Given the description of an element on the screen output the (x, y) to click on. 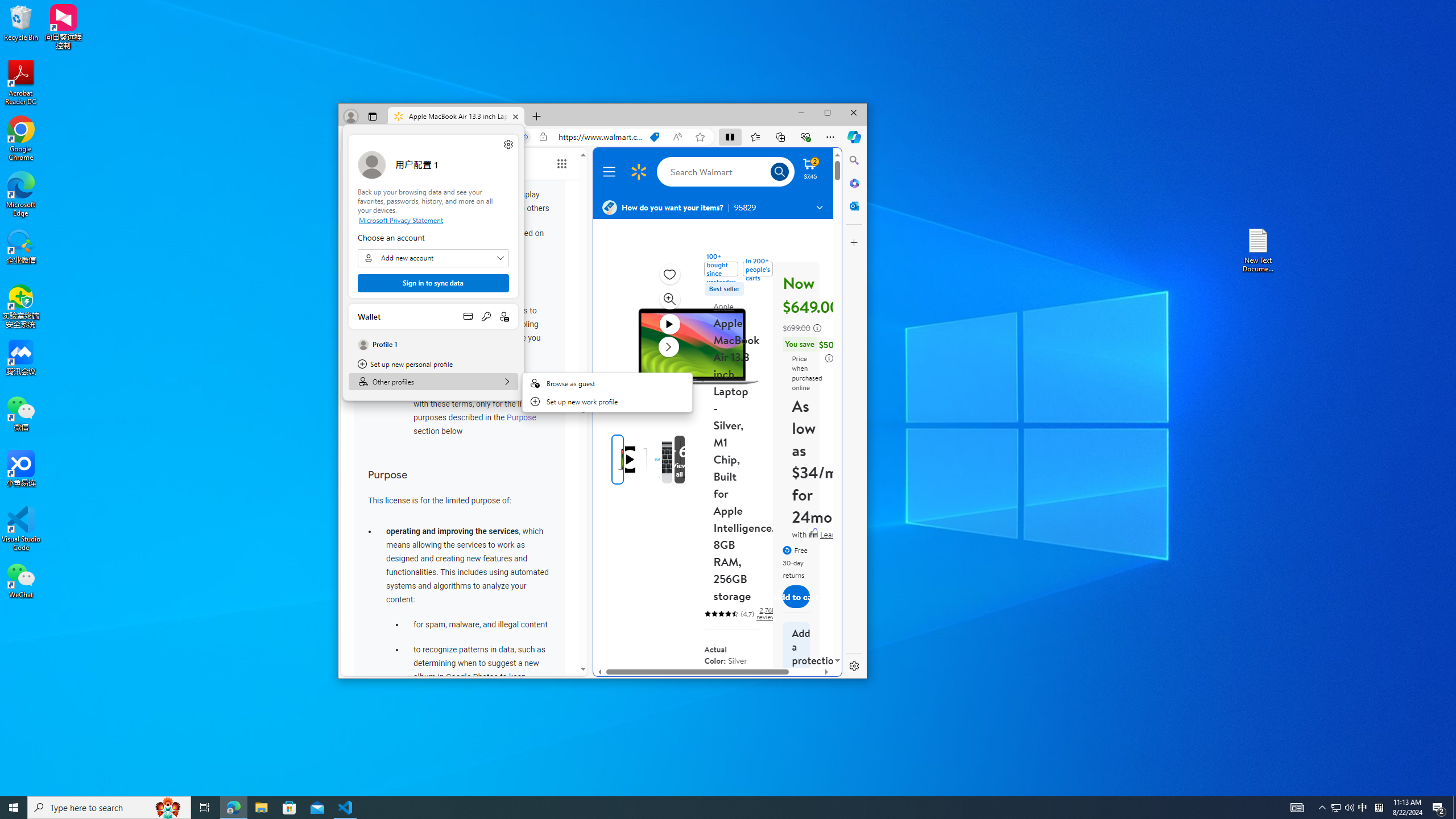
Sign in to sync data (433, 283)
Microsoft Store (289, 807)
Wallet (432, 315)
Microsoft Edge - 1 running window (233, 807)
Affirm (813, 532)
Silver selected, Silver, $649.00 (744, 692)
next media item (668, 346)
Q2790: 100% (1349, 807)
2,768 reviews (766, 613)
